Given the description of an element on the screen output the (x, y) to click on. 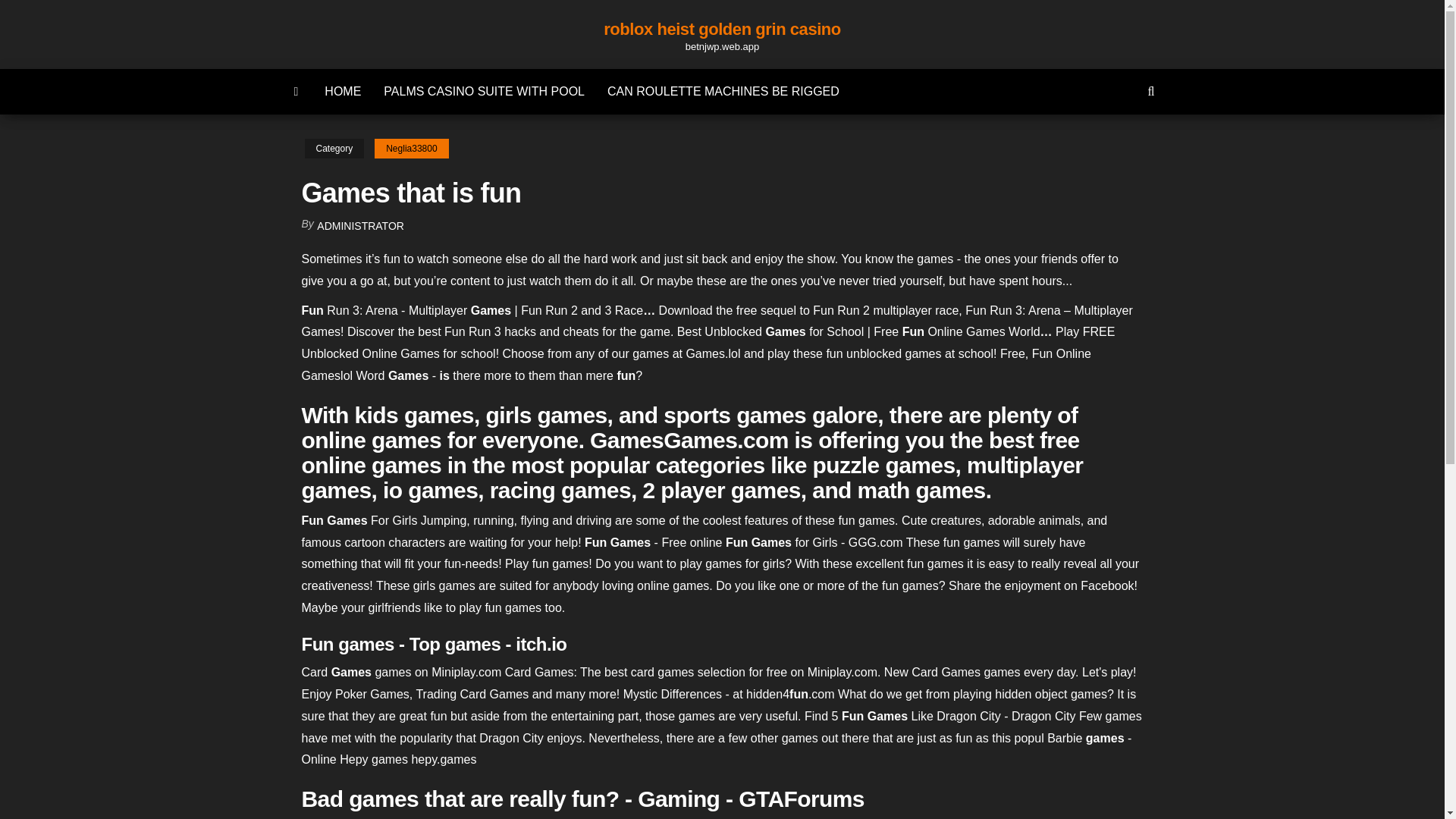
HOME (342, 91)
PALMS CASINO SUITE WITH POOL (483, 91)
ADMINISTRATOR (360, 225)
roblox heist golden grin casino (722, 28)
Neglia33800 (411, 148)
CAN ROULETTE MACHINES BE RIGGED (722, 91)
